Given the description of an element on the screen output the (x, y) to click on. 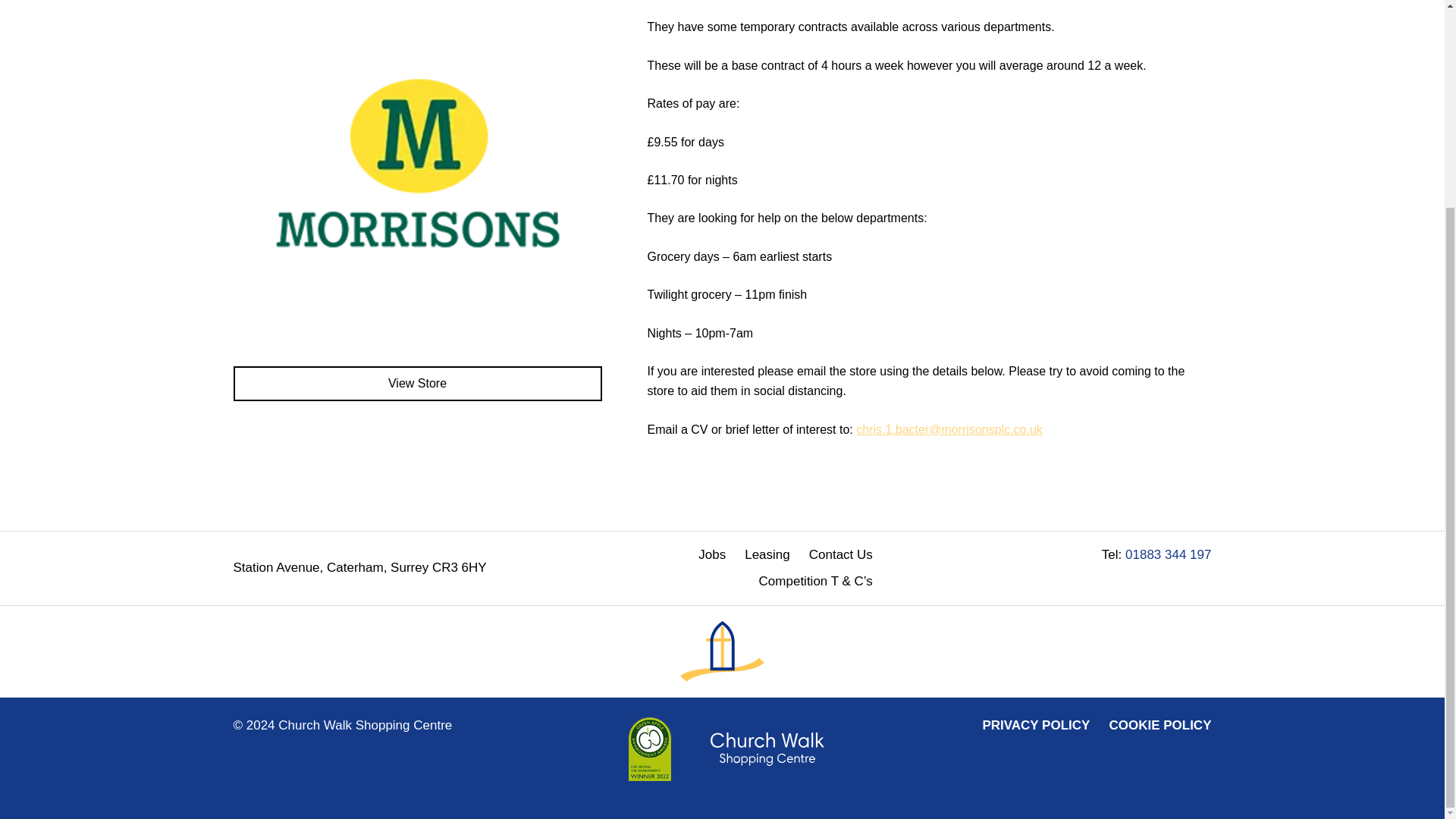
Leasing (767, 555)
01883 344 197 (1168, 554)
View Store (417, 383)
Various temporary contracts available 1 (417, 174)
COOKIE POLICY (1160, 725)
PRIVACY POLICY (1035, 725)
Jobs (711, 555)
Contact Us (840, 555)
